Given the description of an element on the screen output the (x, y) to click on. 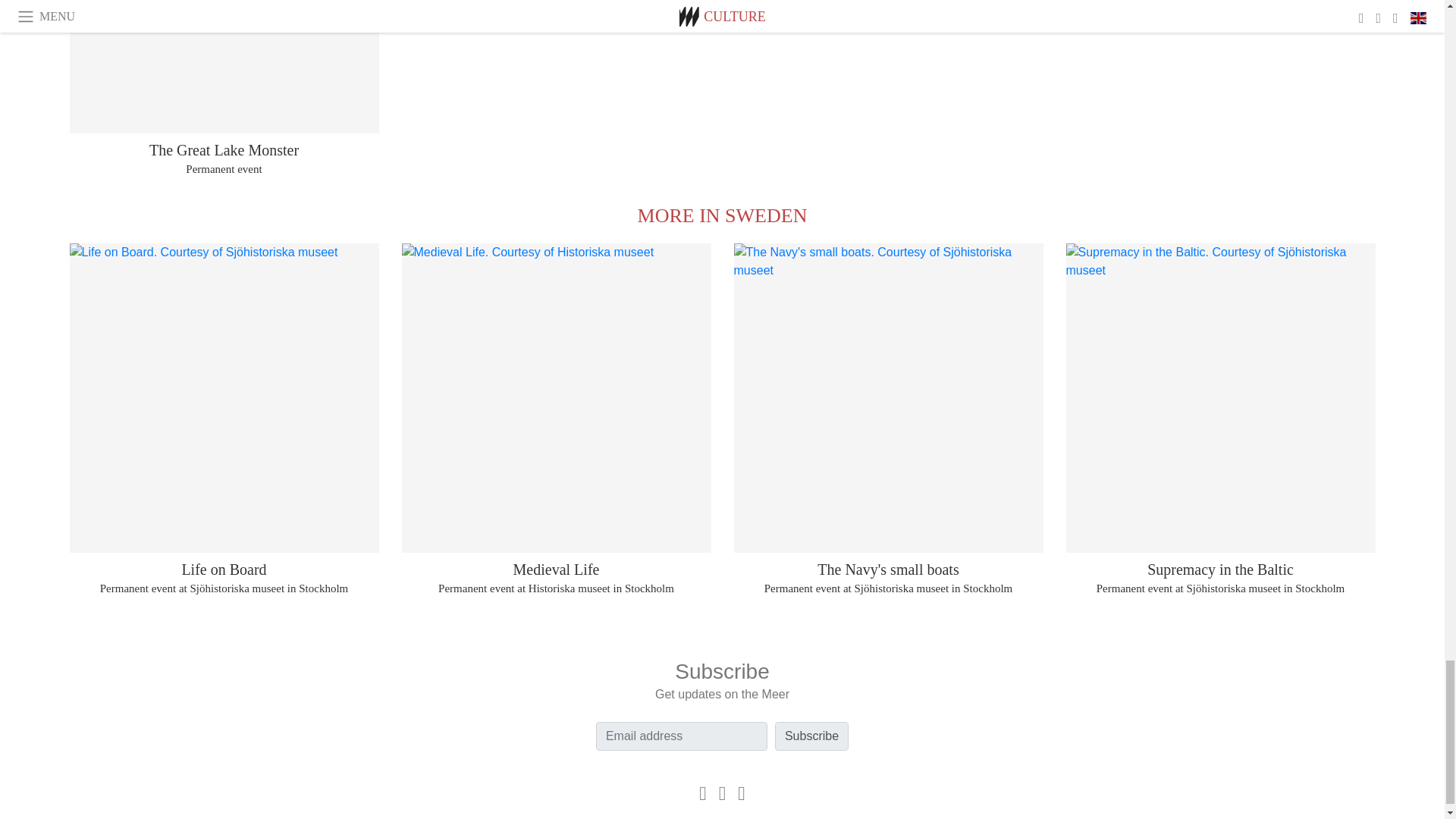
Subscribe (811, 736)
